Given the description of an element on the screen output the (x, y) to click on. 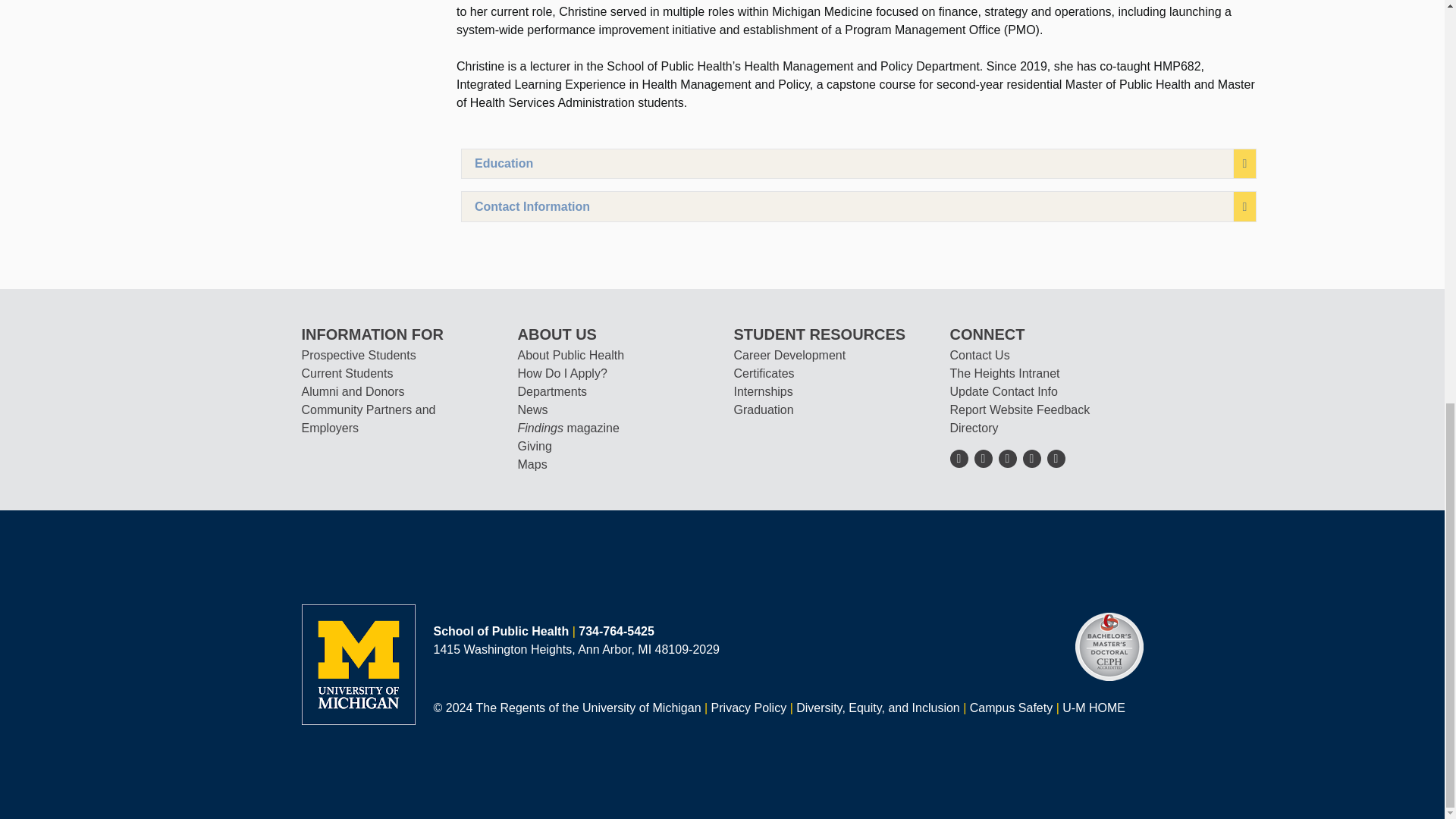
Watch us on YouTube (1008, 458)
Find us on Facebook (958, 458)
Join our LinkedIn group (1056, 458)
Follow us on Twitter (983, 458)
View our photos on Instagram (1031, 458)
